Given the description of an element on the screen output the (x, y) to click on. 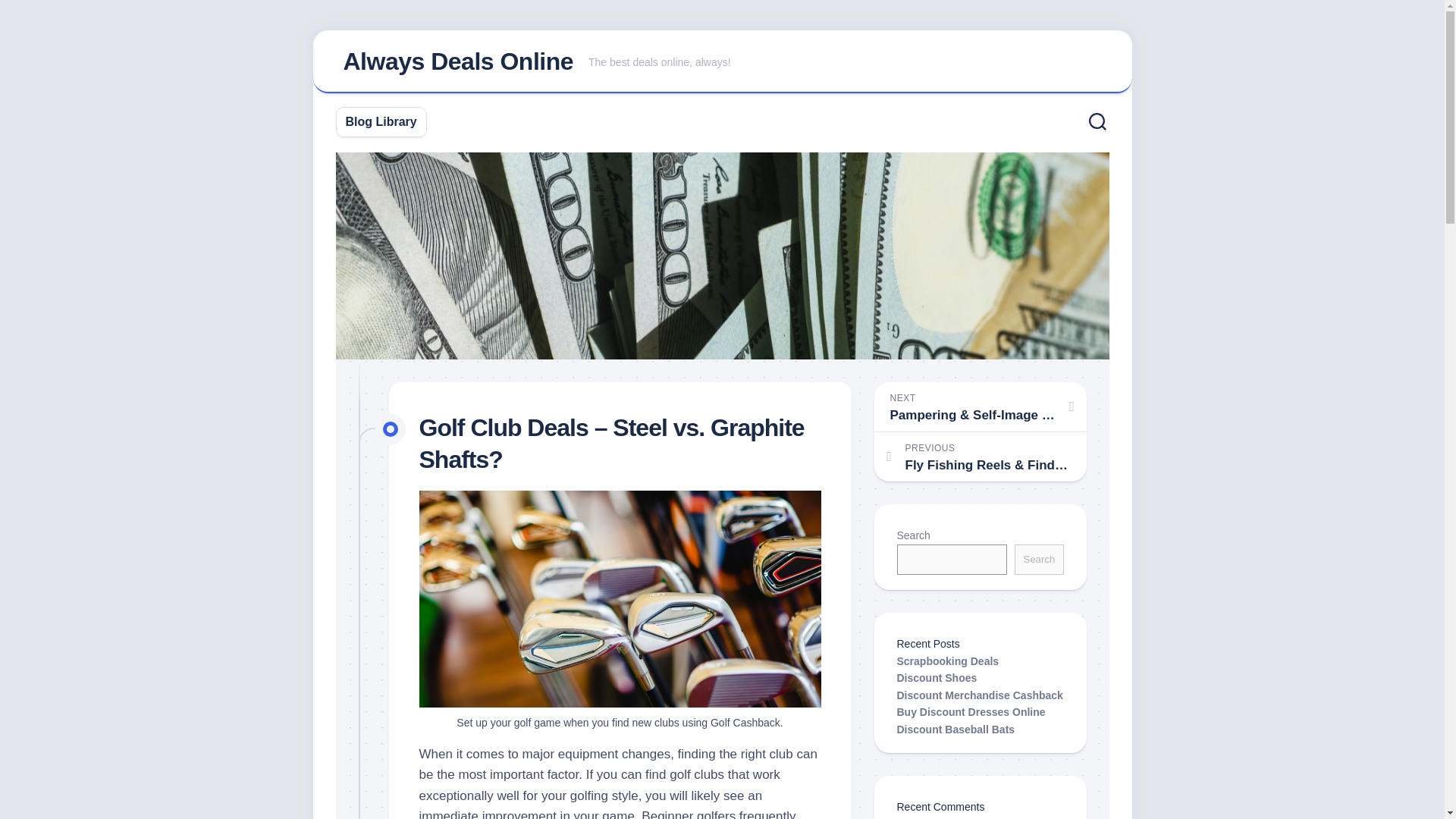
Discount Merchandise Cashback (979, 695)
Buy Discount Dresses Online (970, 711)
Blog Library (381, 121)
Discount Shoes (936, 677)
Search (1038, 559)
Scrapbooking Deals (947, 661)
Always Deals Online (457, 61)
Discount Baseball Bats (955, 729)
